Given the description of an element on the screen output the (x, y) to click on. 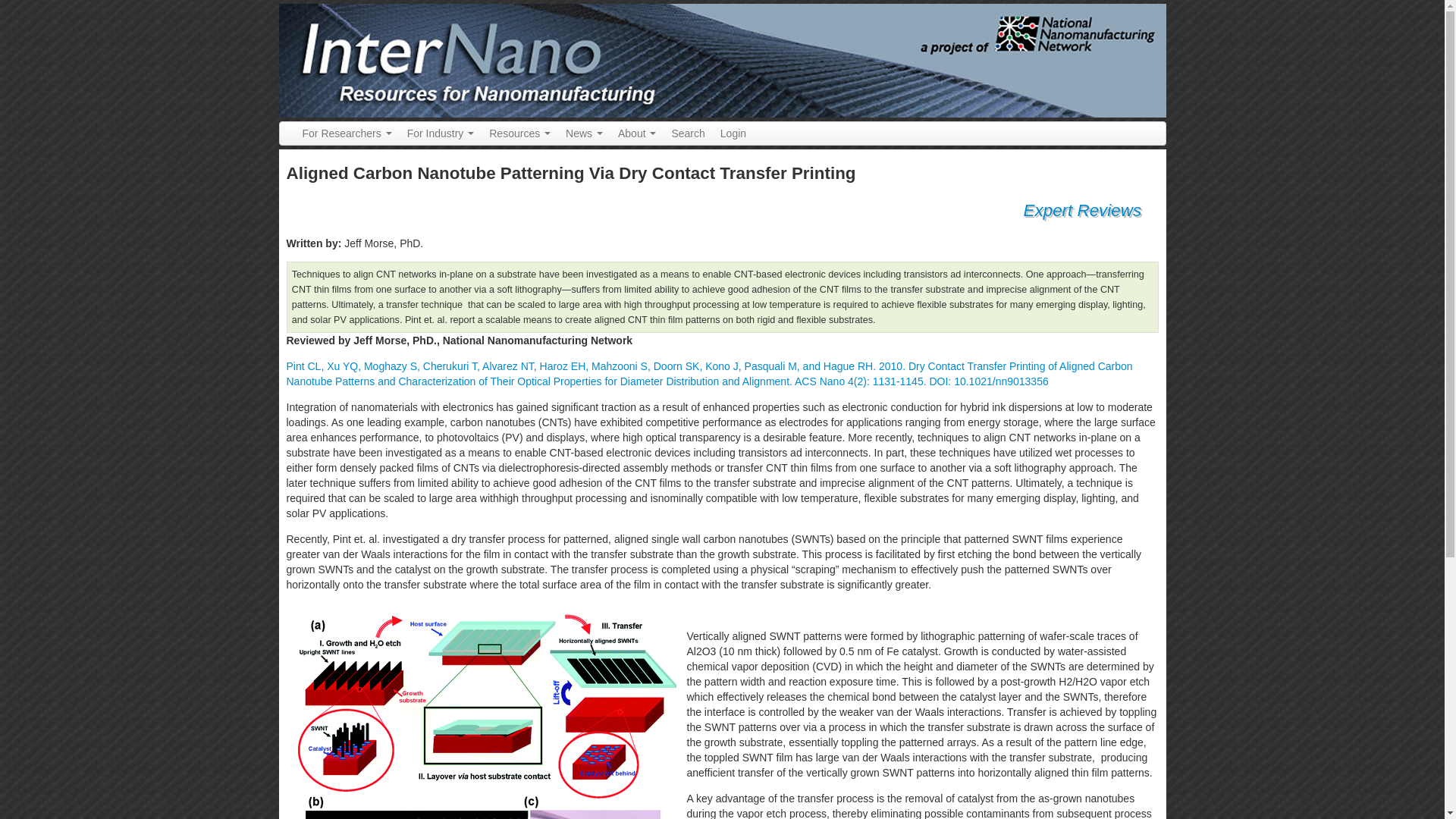
Resources (519, 133)
For Researchers (346, 133)
For Industry (439, 133)
Skip to content (34, 4)
News (583, 133)
Home (722, 60)
